Given the description of an element on the screen output the (x, y) to click on. 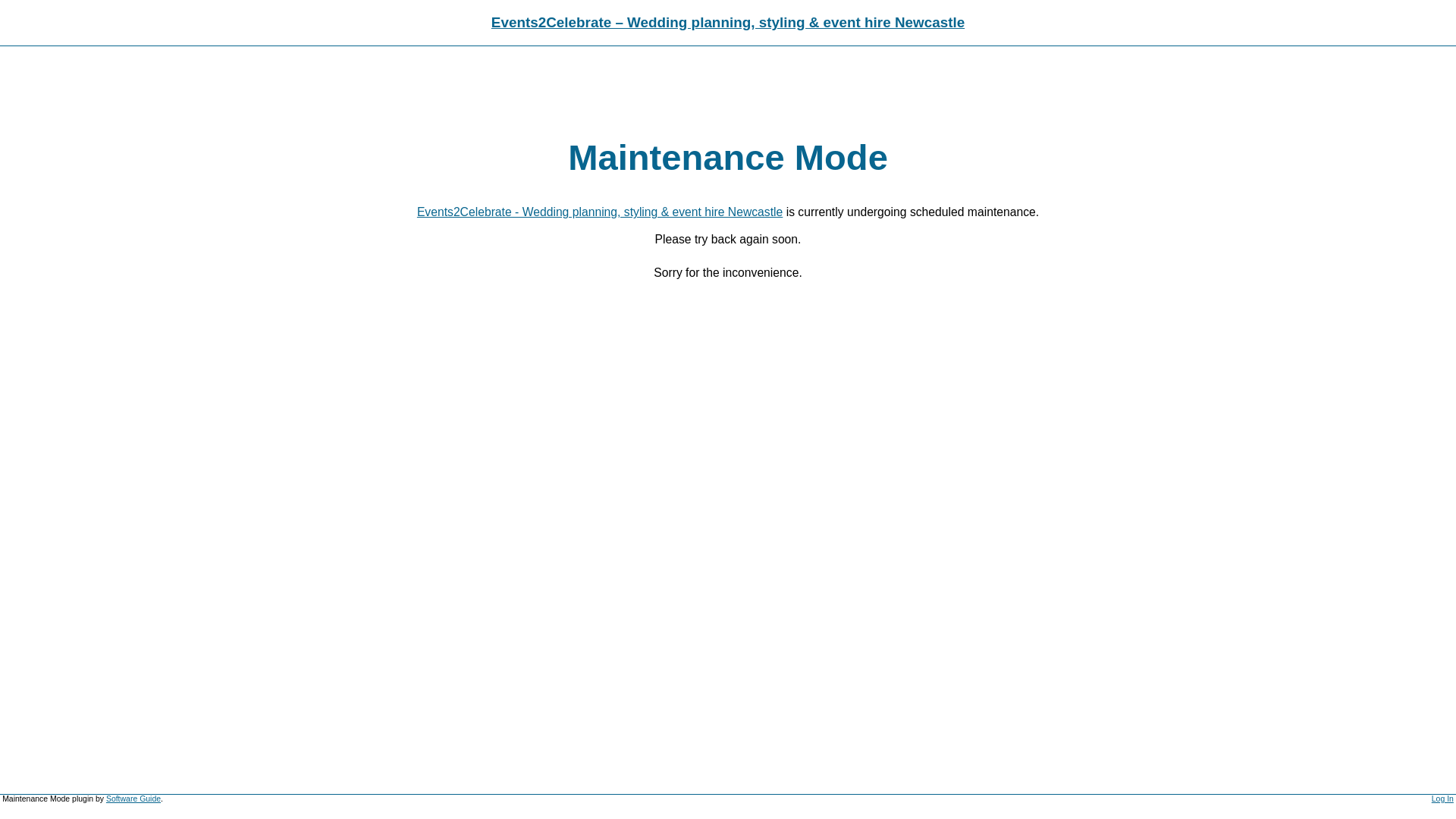
Software Guide Element type: text (133, 798)
Log In Element type: text (1442, 798)
